Given the description of an element on the screen output the (x, y) to click on. 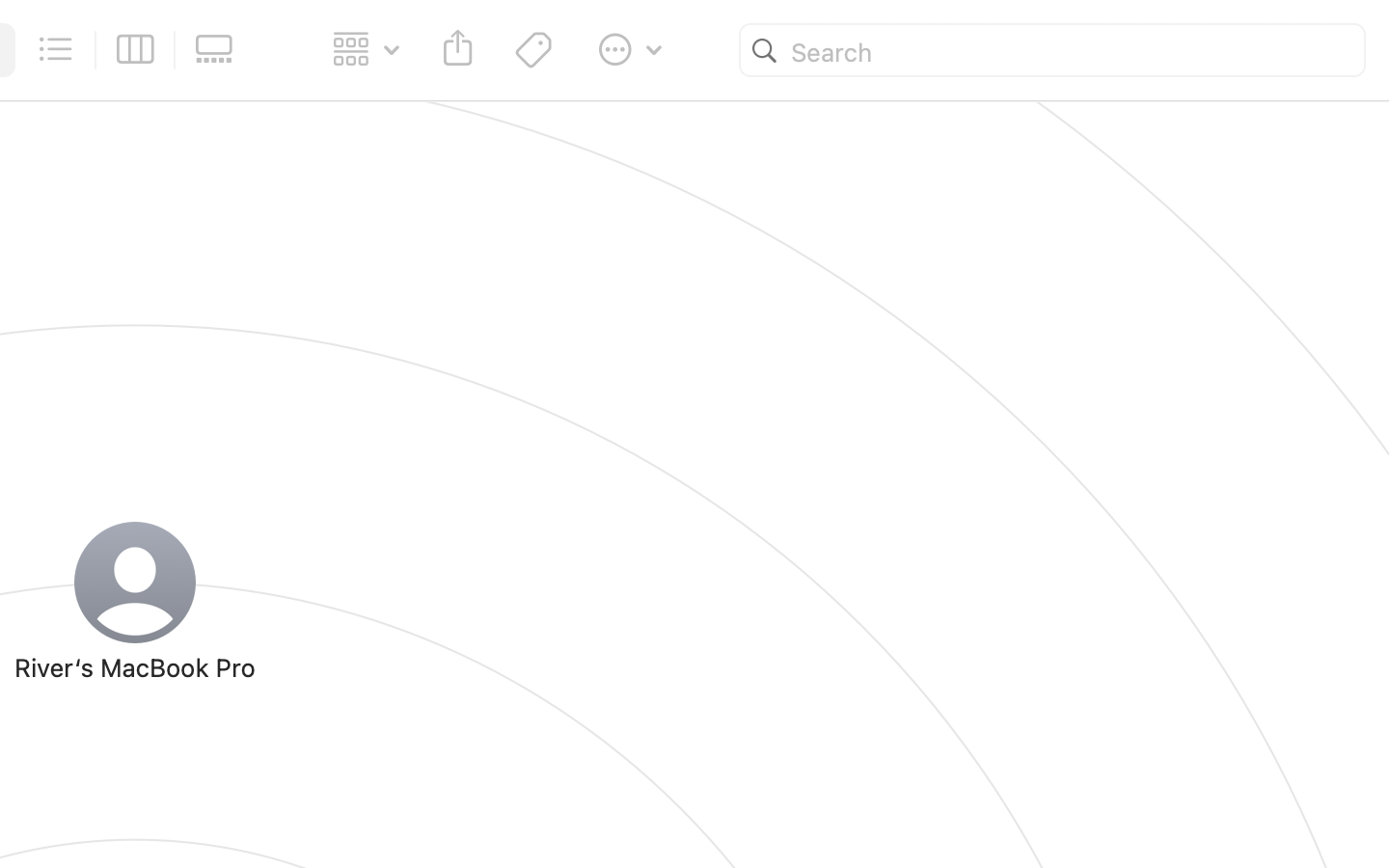
0 Element type: AXRadioButton (219, 49)
River‘s MacBook Pro Element type: AXStaticText (134, 666)
